Given the description of an element on the screen output the (x, y) to click on. 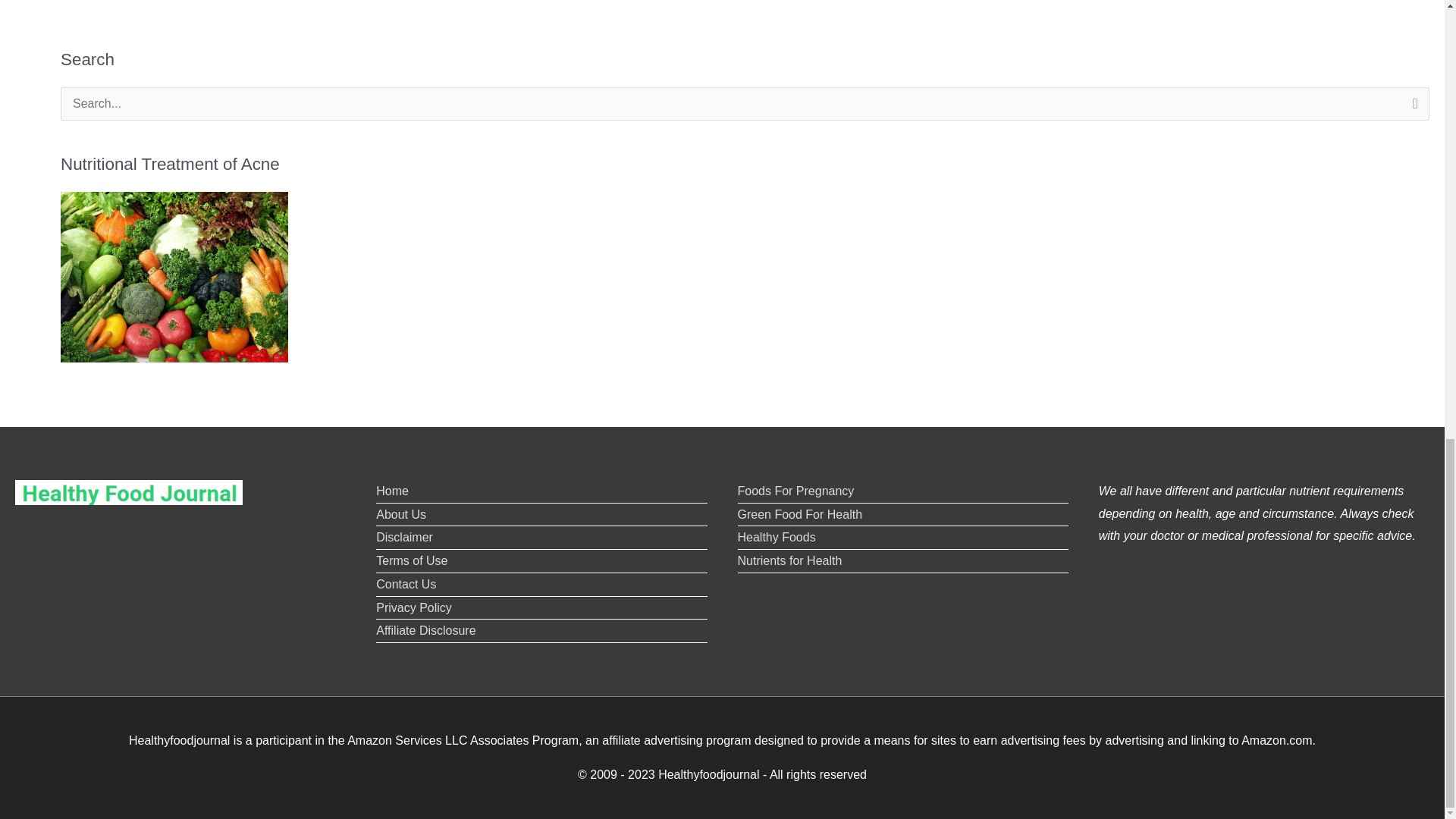
Affiliate Disclosure (425, 630)
Foods For Pregnancy (794, 490)
Nutrients for Health (788, 560)
About Us (400, 513)
Disclaimer (403, 536)
Contact Us (405, 584)
Green Food For Health (798, 513)
Healthy Foods (775, 536)
Privacy Policy (413, 607)
Terms of Use (410, 560)
Home (392, 490)
